Given the description of an element on the screen output the (x, y) to click on. 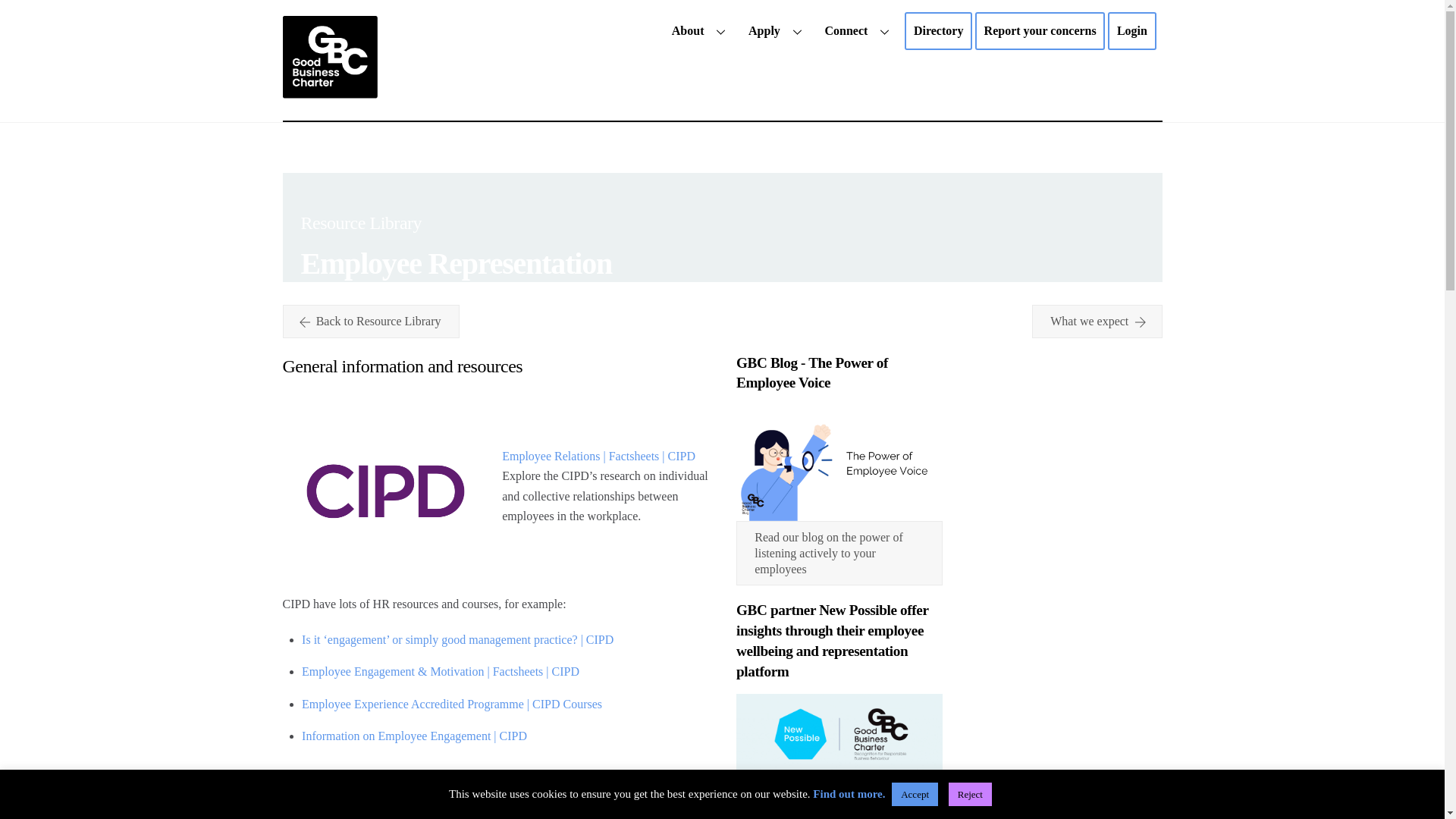
Back to Resource Library (370, 321)
Login (1131, 30)
Apply (721, 30)
Directory (777, 30)
About (938, 30)
Connect (700, 30)
Report your concerns (858, 30)
What we expect (1039, 30)
Good Business Charter (1096, 321)
